Given the description of an element on the screen output the (x, y) to click on. 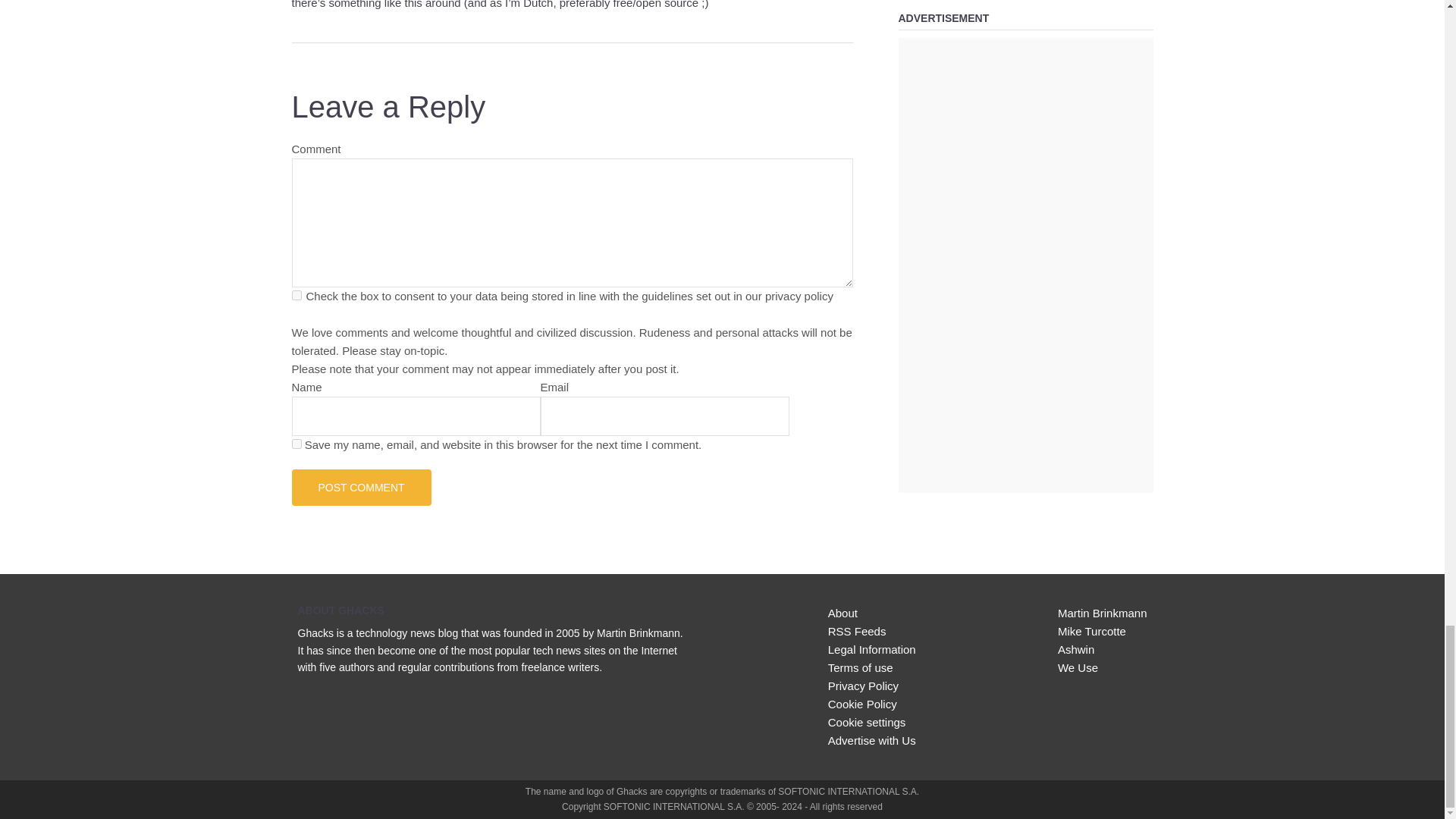
Post Comment (360, 487)
privacy-key (296, 295)
yes (296, 443)
